Given the description of an element on the screen output the (x, y) to click on. 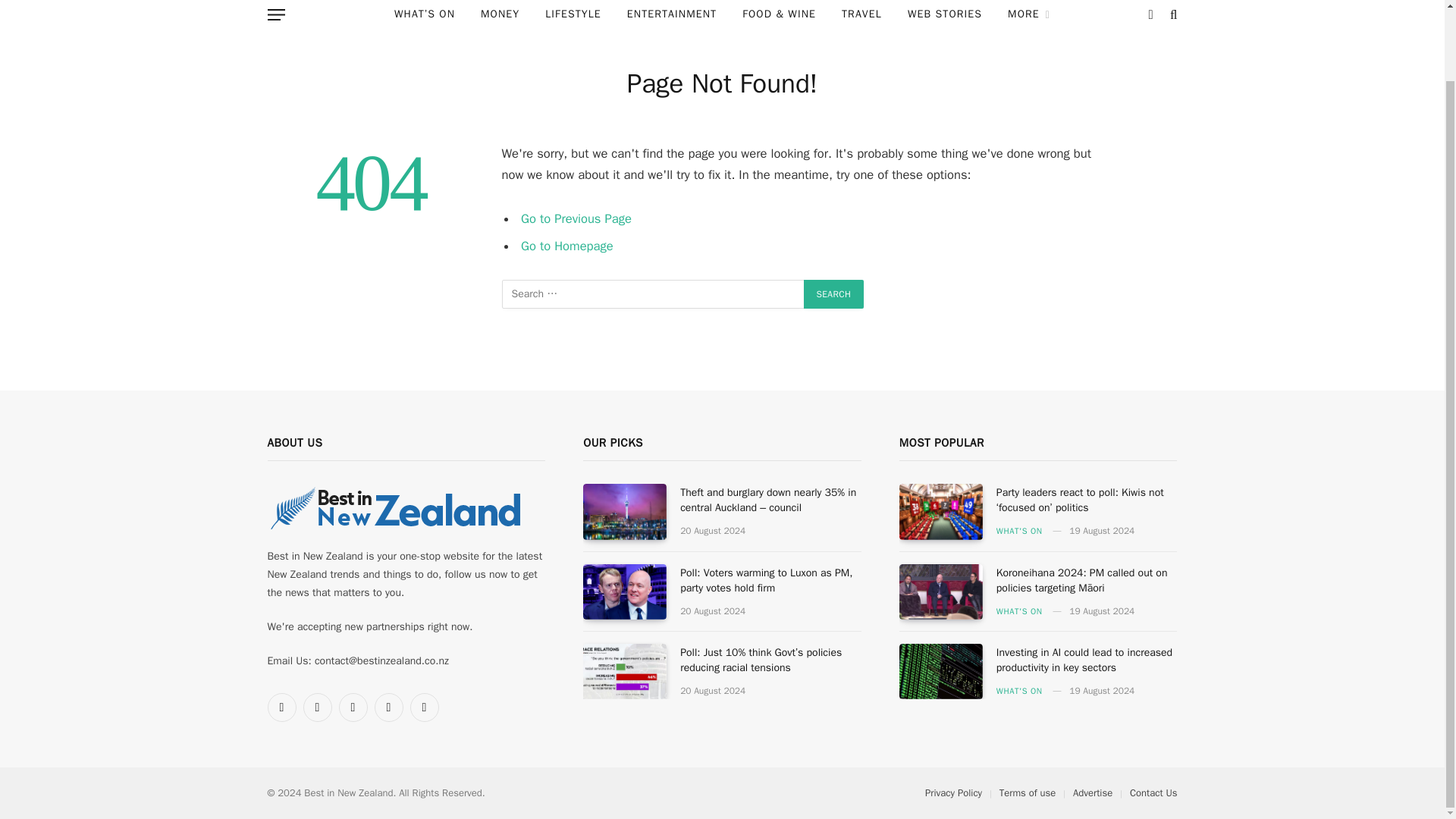
LIFESTYLE (573, 17)
TRAVEL (861, 17)
ENTERTAINMENT (671, 17)
Search (833, 294)
Search (833, 294)
MONEY (499, 17)
Switch to Dark Design - easier on eyes. (1150, 14)
